Given the description of an element on the screen output the (x, y) to click on. 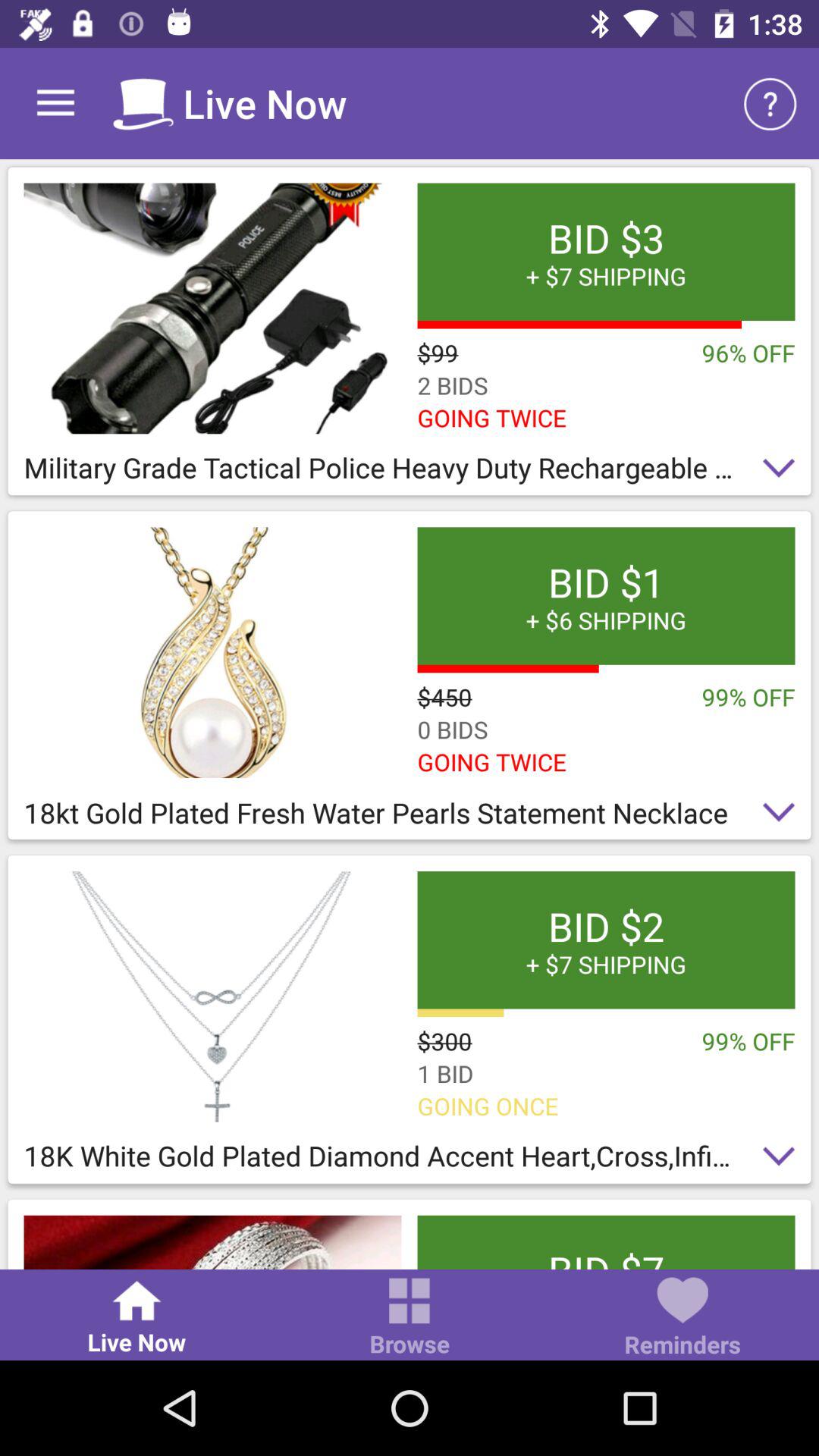
flip to the 18k white gold icon (409, 1160)
